Given the description of an element on the screen output the (x, y) to click on. 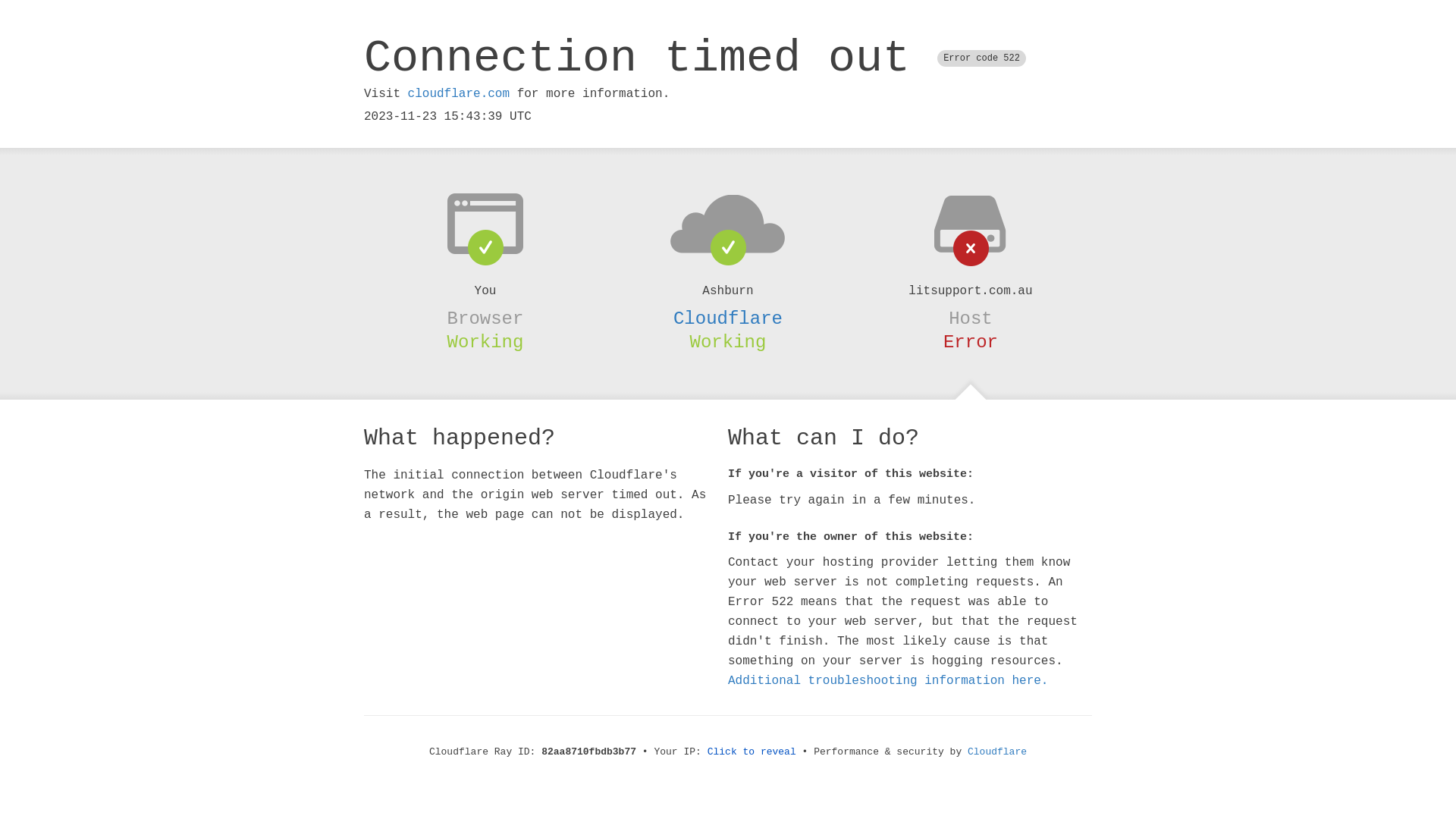
Click to reveal Element type: text (751, 751)
Additional troubleshooting information here. Element type: text (888, 680)
Cloudflare Element type: text (727, 318)
cloudflare.com Element type: text (458, 93)
Cloudflare Element type: text (996, 751)
